Given the description of an element on the screen output the (x, y) to click on. 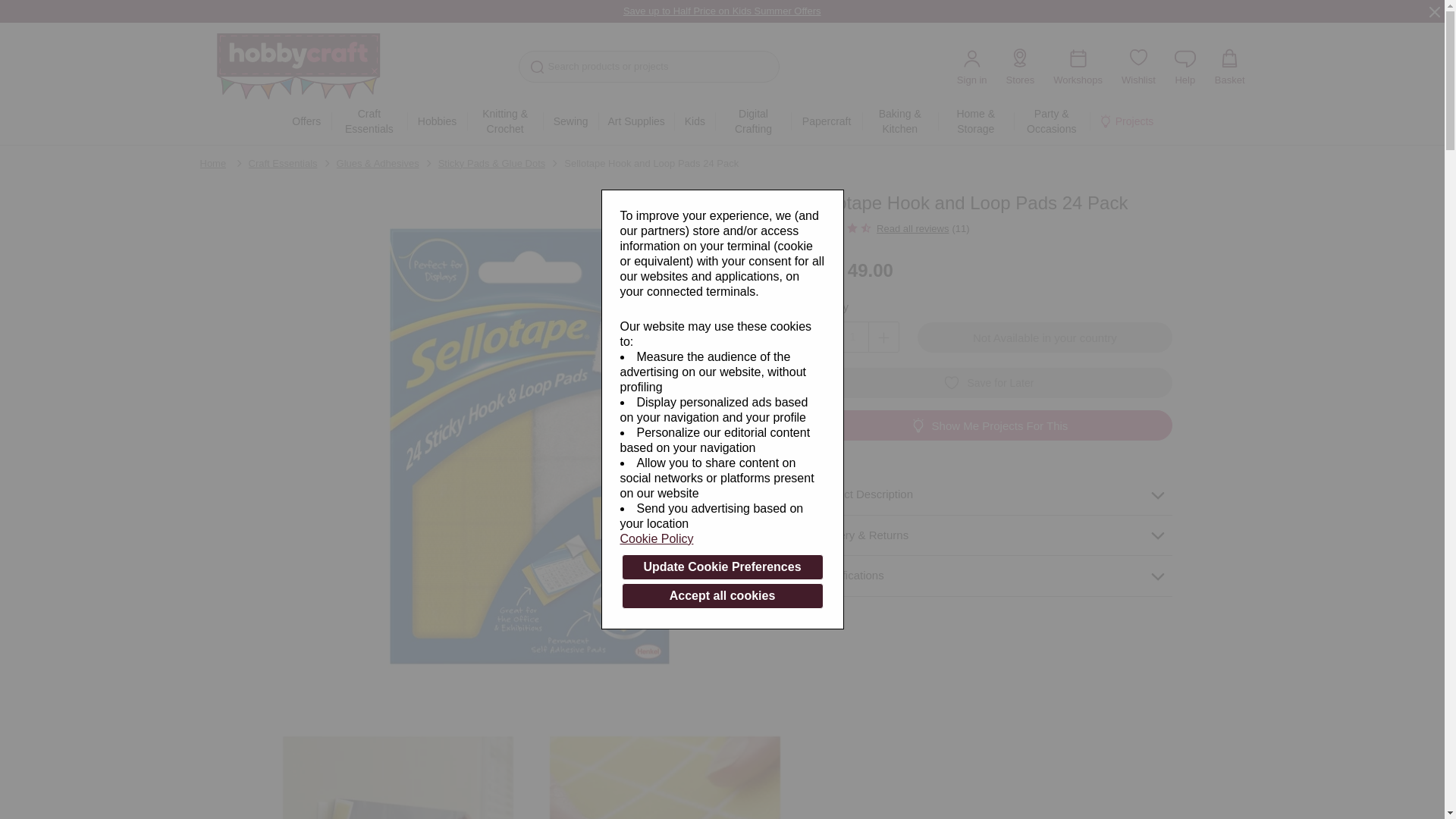
Digital Crafting (752, 121)
Kids (694, 121)
Help (1184, 65)
Cookie Policy (722, 539)
View your Basket (1229, 65)
Offers (306, 121)
Projects (1126, 121)
Workshops (1077, 65)
Hobbies (437, 121)
Accept all cookies (722, 596)
Store Locator (1020, 65)
Update Cookie Preferences (722, 566)
Sewing (570, 121)
Basket (1229, 65)
Hobbycraft (306, 69)
